Given the description of an element on the screen output the (x, y) to click on. 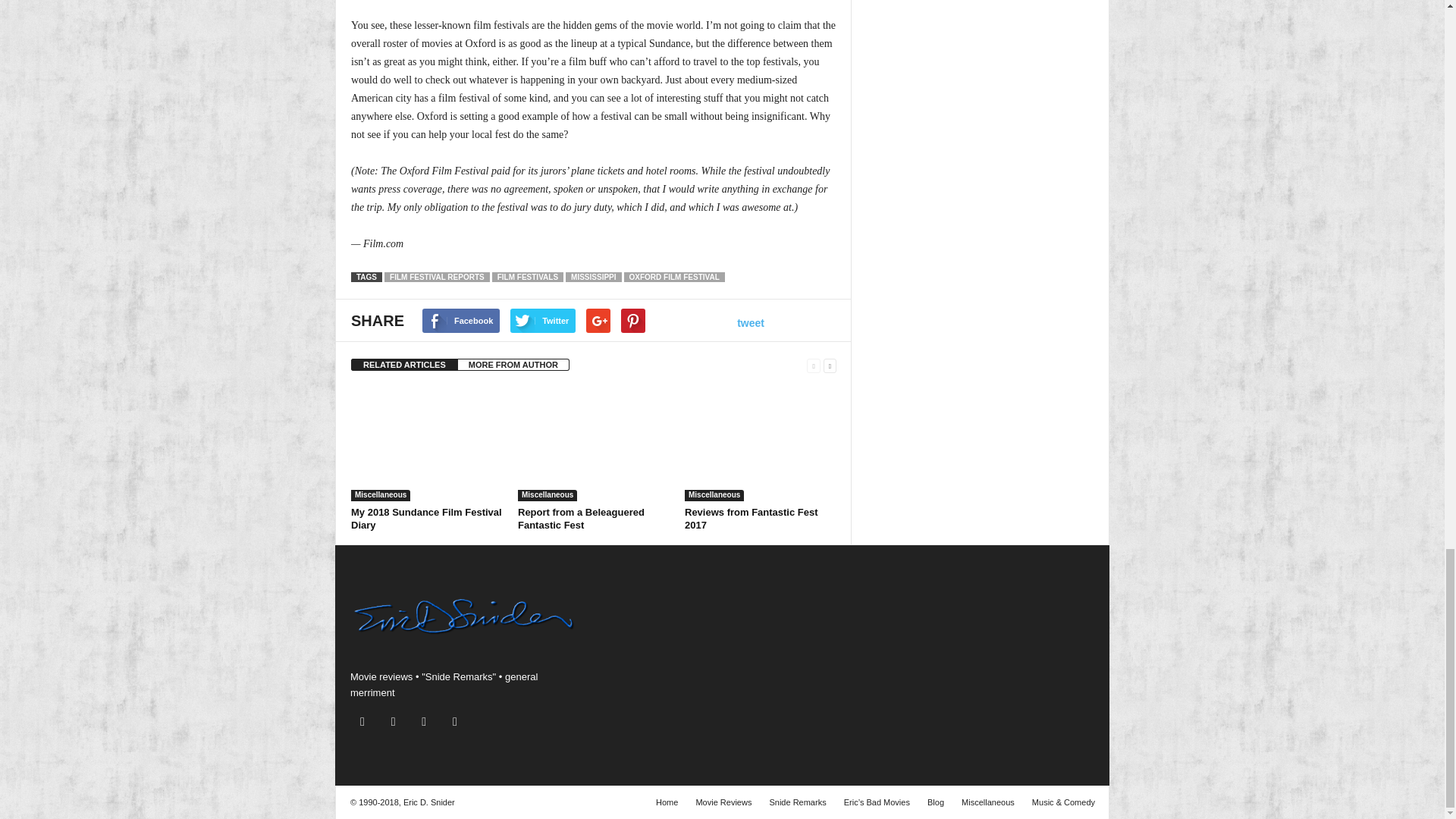
My 2018 Sundance Film Festival Diary (426, 518)
Report from a Beleaguered Fantastic Fest (593, 444)
My 2018 Sundance Film Festival Diary (426, 444)
Reviews from Fantastic Fest 2017 (751, 518)
Reviews from Fantastic Fest 2017 (759, 444)
Report from a Beleaguered Fantastic Fest (581, 518)
